Given the description of an element on the screen output the (x, y) to click on. 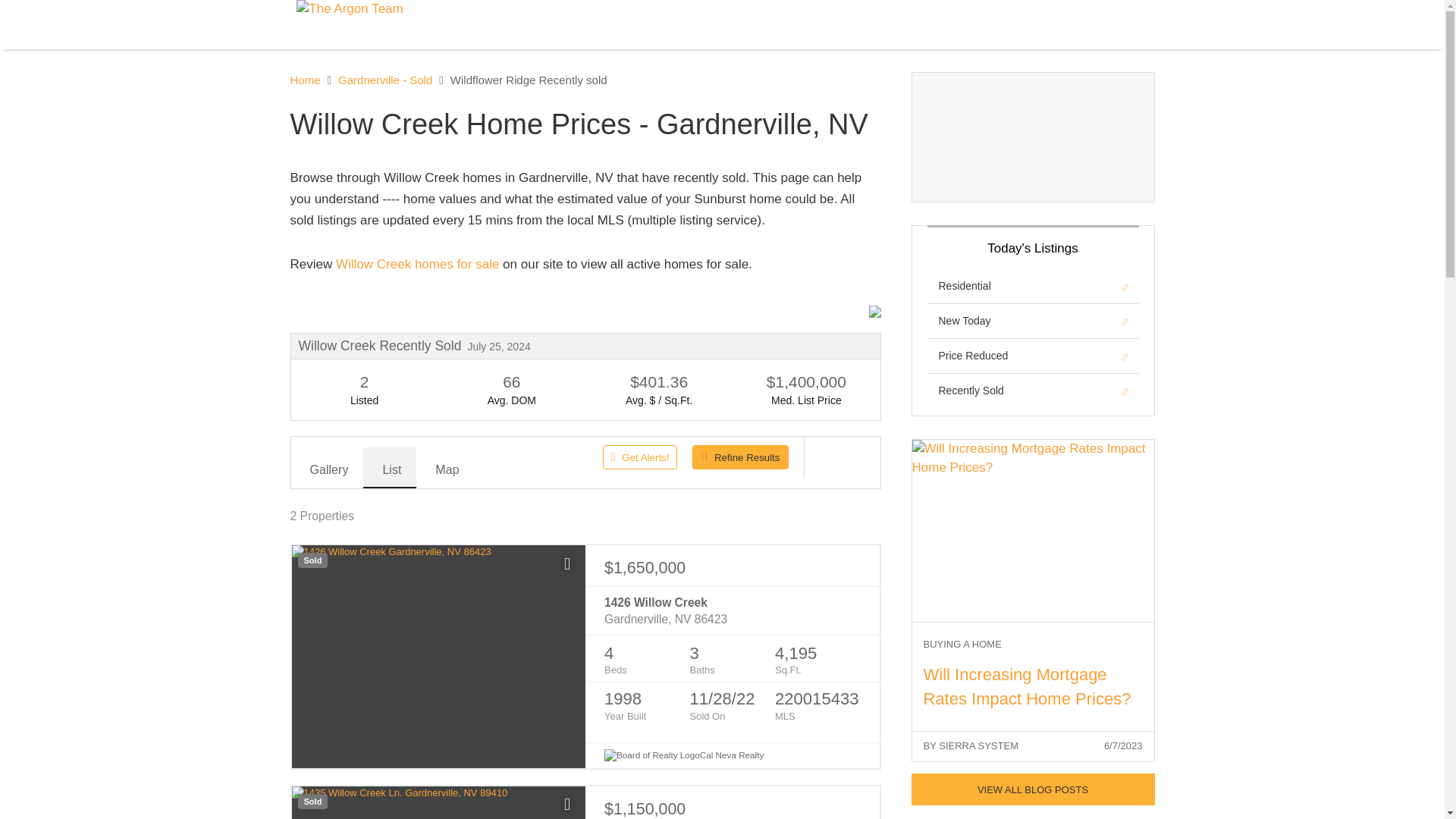
1426 Willow Creek Gardnerville,  NV 86423 (732, 611)
